Given the description of an element on the screen output the (x, y) to click on. 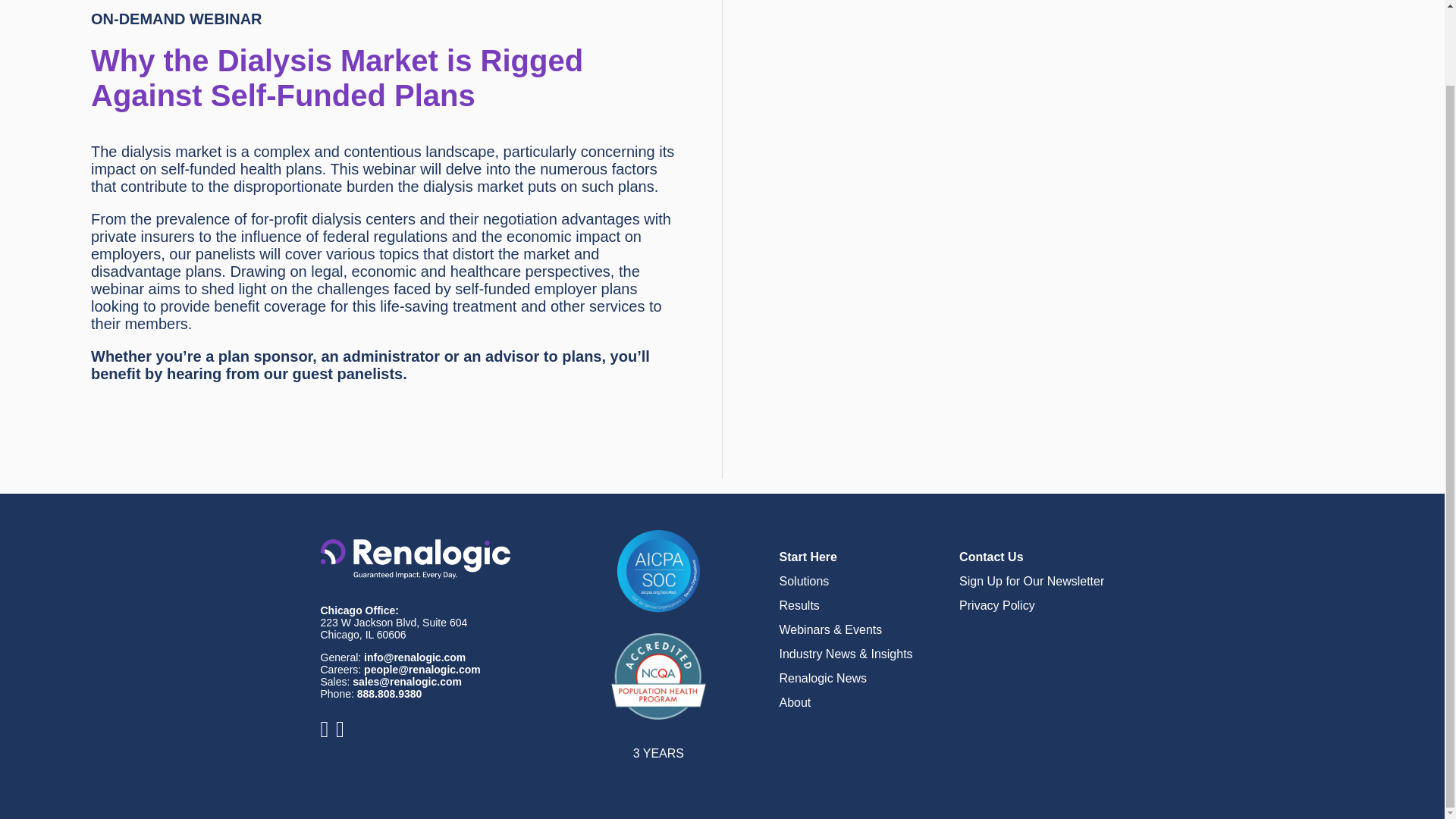
Start Here (807, 556)
renalogic-tagline-white (414, 558)
AICPA (658, 571)
Solutions (803, 581)
accreditedlogo (658, 676)
About (794, 702)
888.808.9380 (389, 693)
Results (798, 604)
Renalogic News (822, 677)
